Given the description of an element on the screen output the (x, y) to click on. 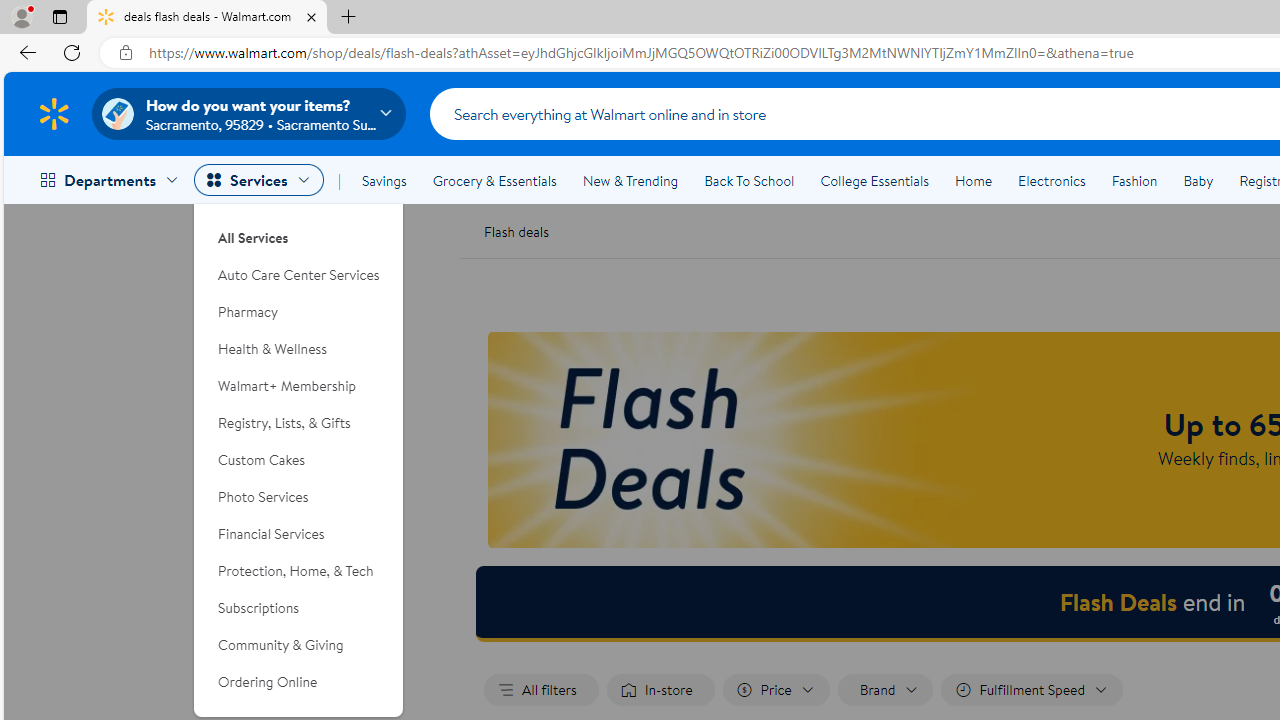
Walmart+ Membership (299, 385)
All Services (299, 230)
Fashion (1134, 180)
Filter by In-store (660, 690)
New & Trending (630, 180)
Back To School (749, 180)
Filter by Price not applied, activate to change (775, 690)
Subscriptions (299, 608)
College Essentials (874, 180)
Registry, Lists, & Gifts (299, 423)
